Given the description of an element on the screen output the (x, y) to click on. 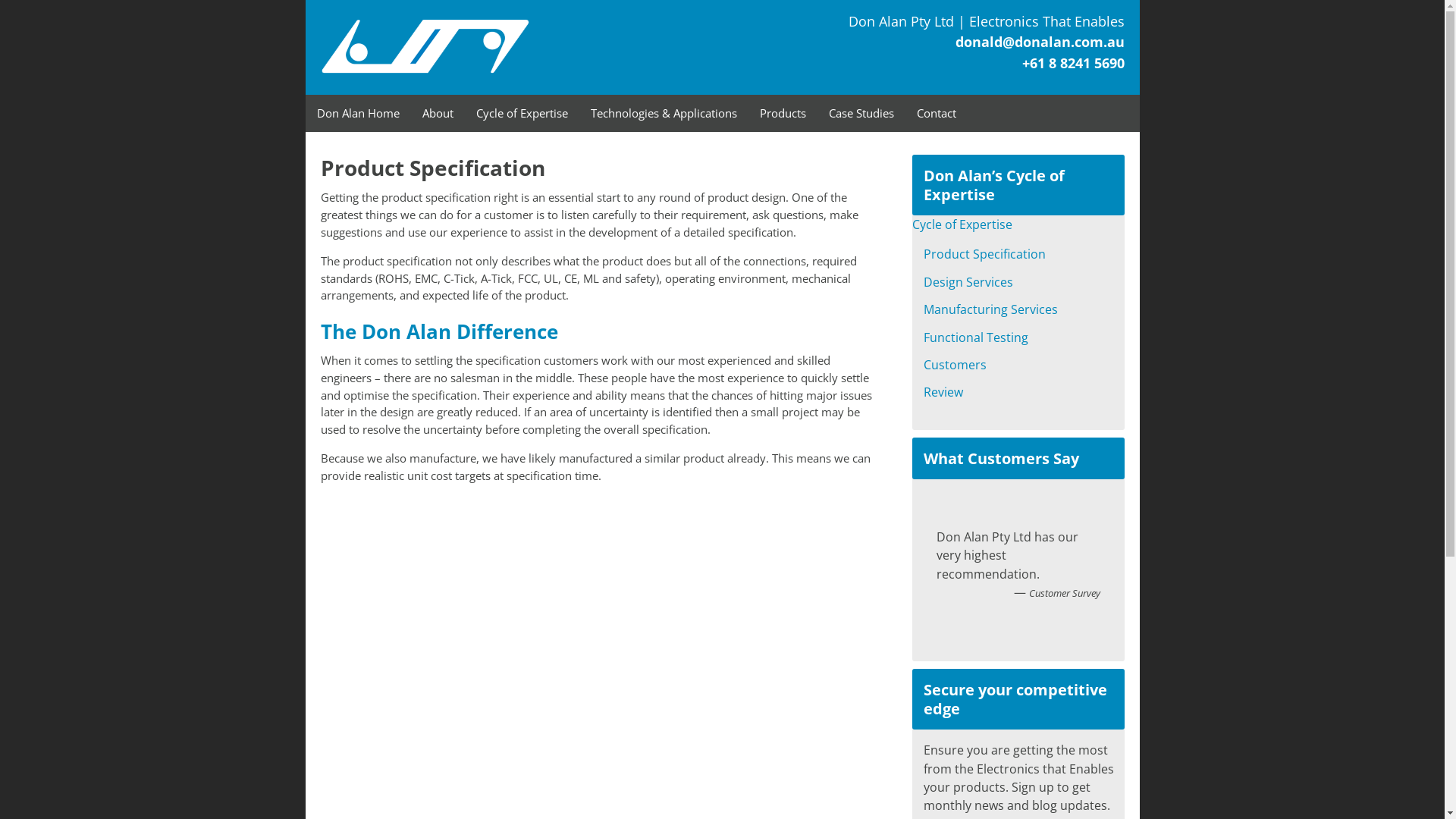
Products Element type: text (781, 112)
Don Alan Element type: text (468, 47)
Don Alan Home Element type: text (357, 112)
Customers Element type: text (954, 364)
Functional Testing Element type: text (975, 337)
Technologies & Applications Element type: text (663, 112)
+61 8 8241 5690 Element type: text (1073, 62)
donald@donalan.com.au Element type: text (1039, 41)
Product Specification Element type: text (984, 253)
Case Studies Element type: text (861, 112)
Cycle of Expertise Element type: text (961, 224)
Cycle of Expertise Element type: text (521, 112)
Design Services Element type: text (968, 281)
Manufacturing Services Element type: text (990, 309)
Contact Element type: text (936, 112)
Review Element type: text (943, 391)
About Element type: text (437, 112)
